Given the description of an element on the screen output the (x, y) to click on. 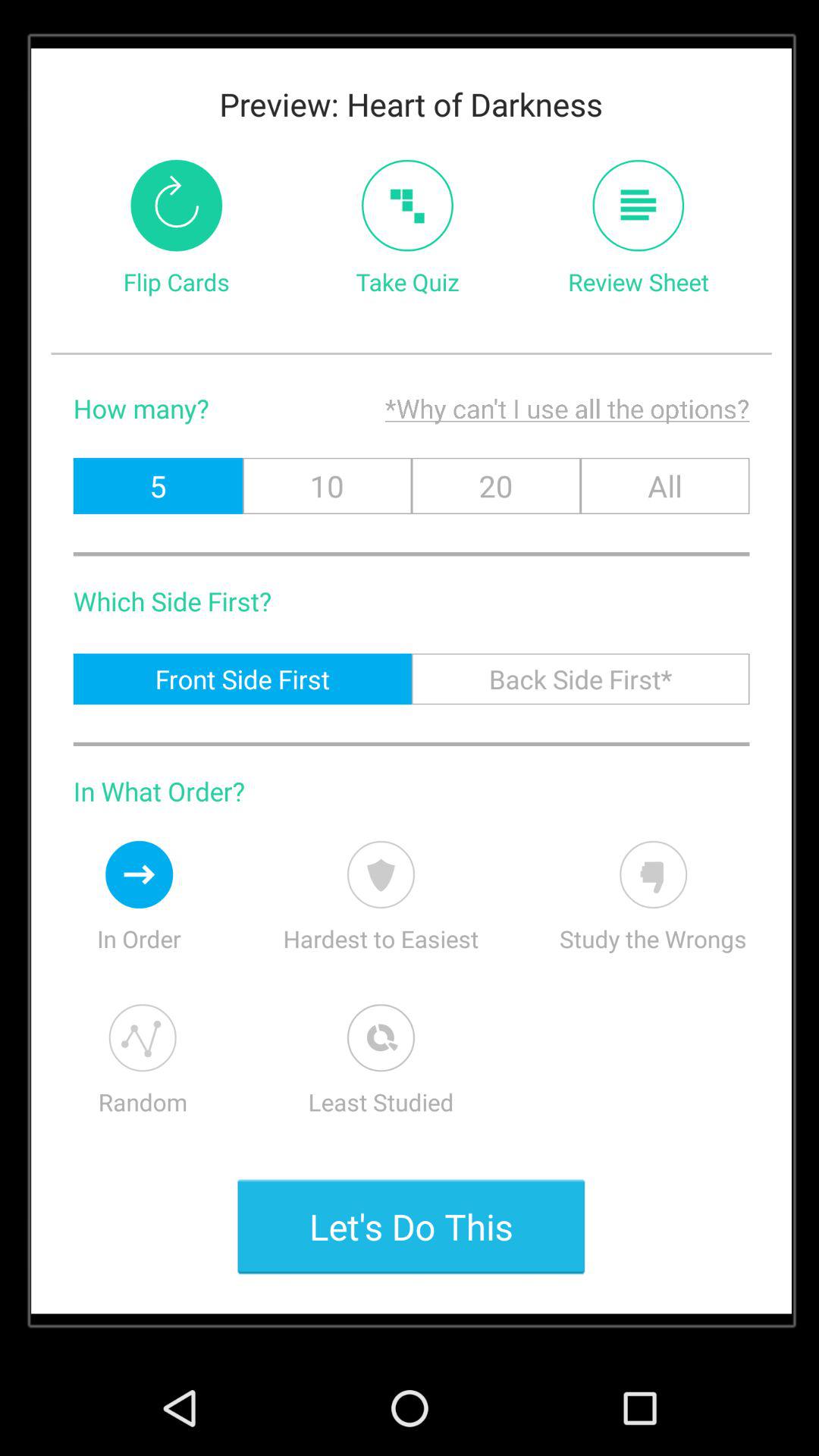
show hardest flashcards first (380, 874)
